Given the description of an element on the screen output the (x, y) to click on. 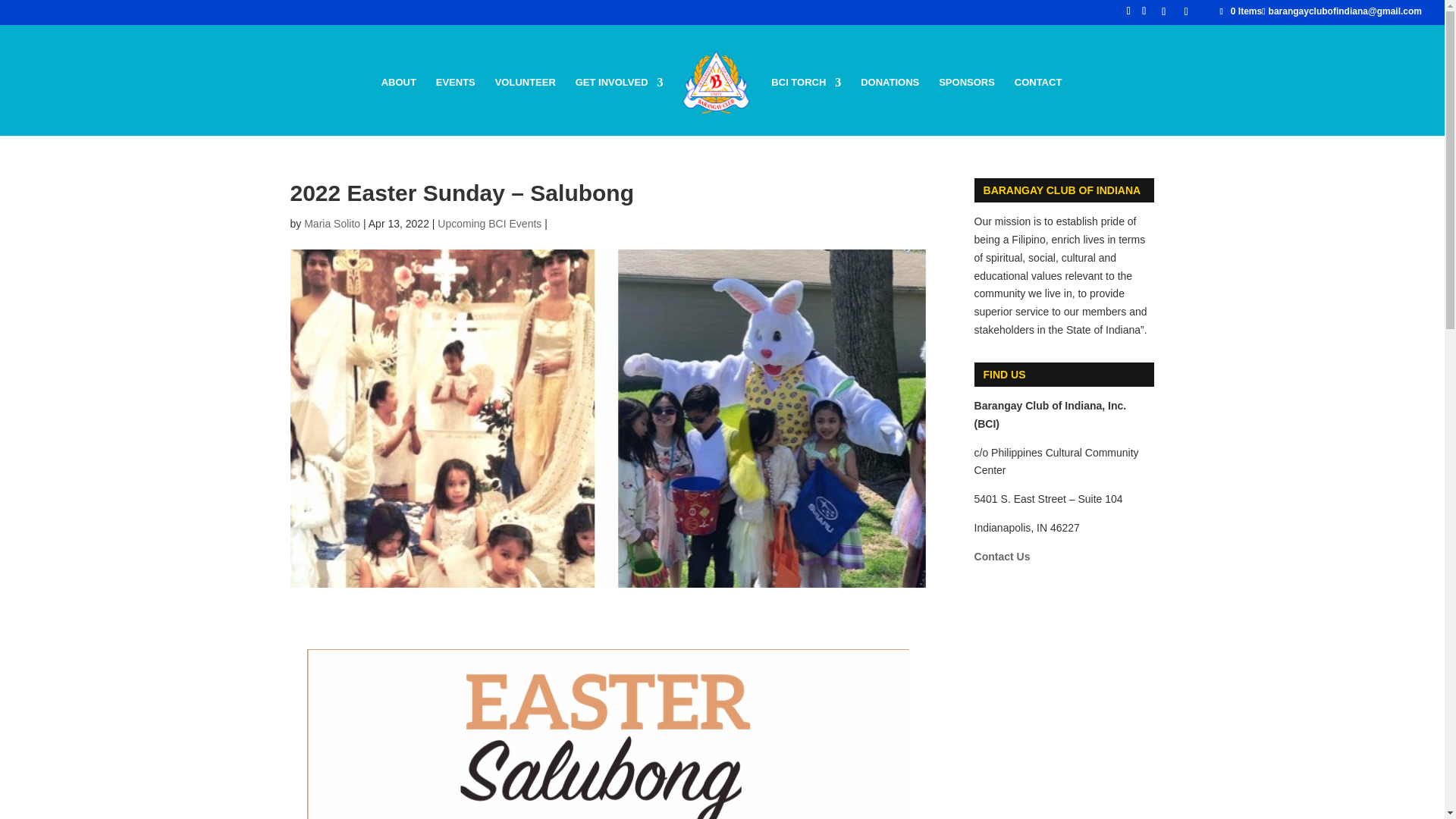
ABOUT (398, 105)
Posts by Maria Solito (331, 223)
VOLUNTEER (525, 105)
EVENTS (455, 105)
Maria Solito (331, 223)
Upcoming BCI Events (489, 223)
BCI TORCH (806, 105)
0 Items (1241, 10)
GET INVOLVED (619, 105)
Contact Us (1002, 556)
CONTACT (1038, 105)
SPONSORS (966, 105)
2022 Easter Sunday Event - Salubong (607, 734)
DONATIONS (889, 105)
